Given the description of an element on the screen output the (x, y) to click on. 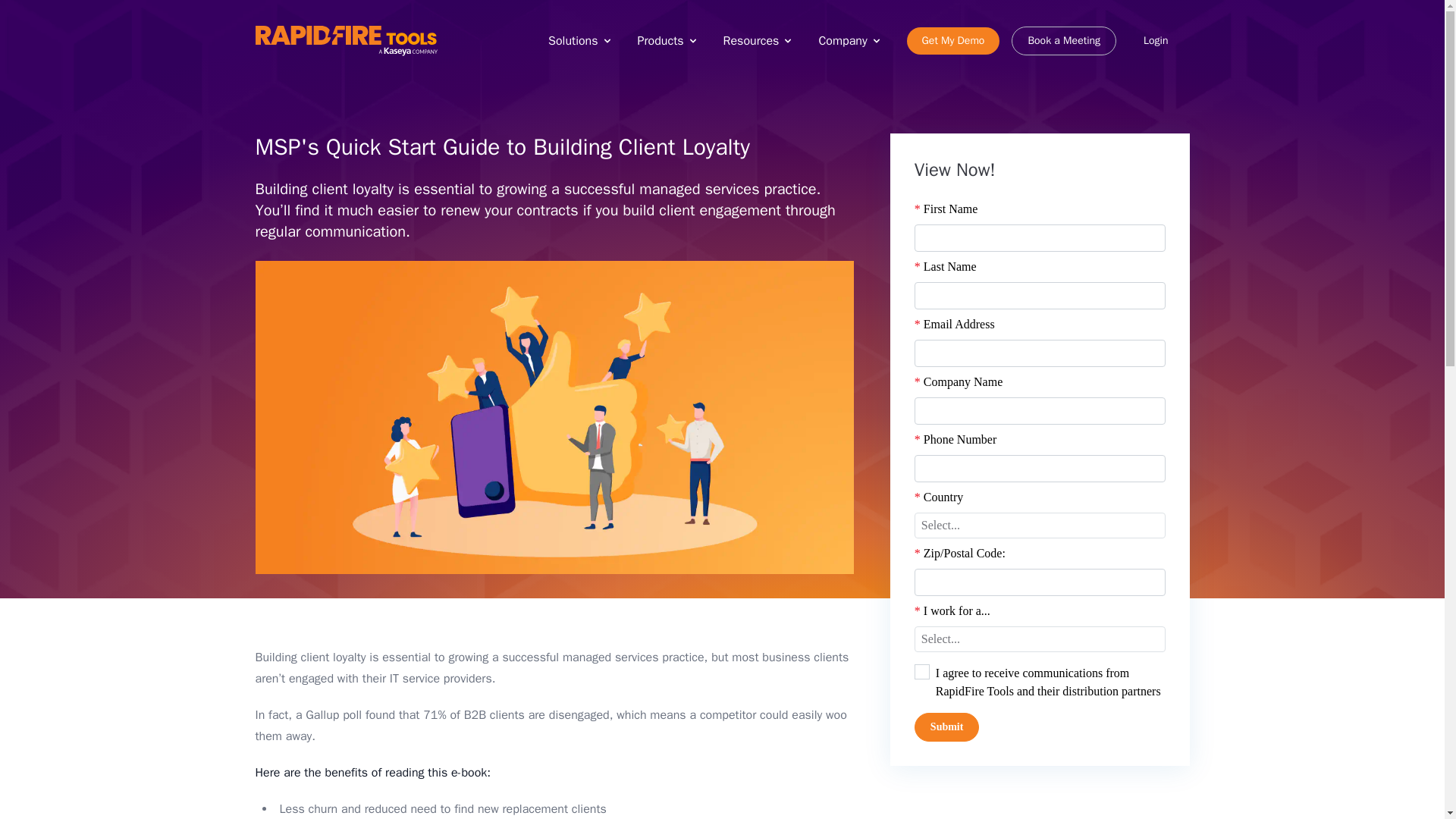
Get My Demo (953, 40)
Login (1155, 40)
Solutions (580, 40)
RapidFire Tools (345, 40)
Book a Meeting (1063, 40)
Products (667, 40)
Resources (758, 40)
